Given the description of an element on the screen output the (x, y) to click on. 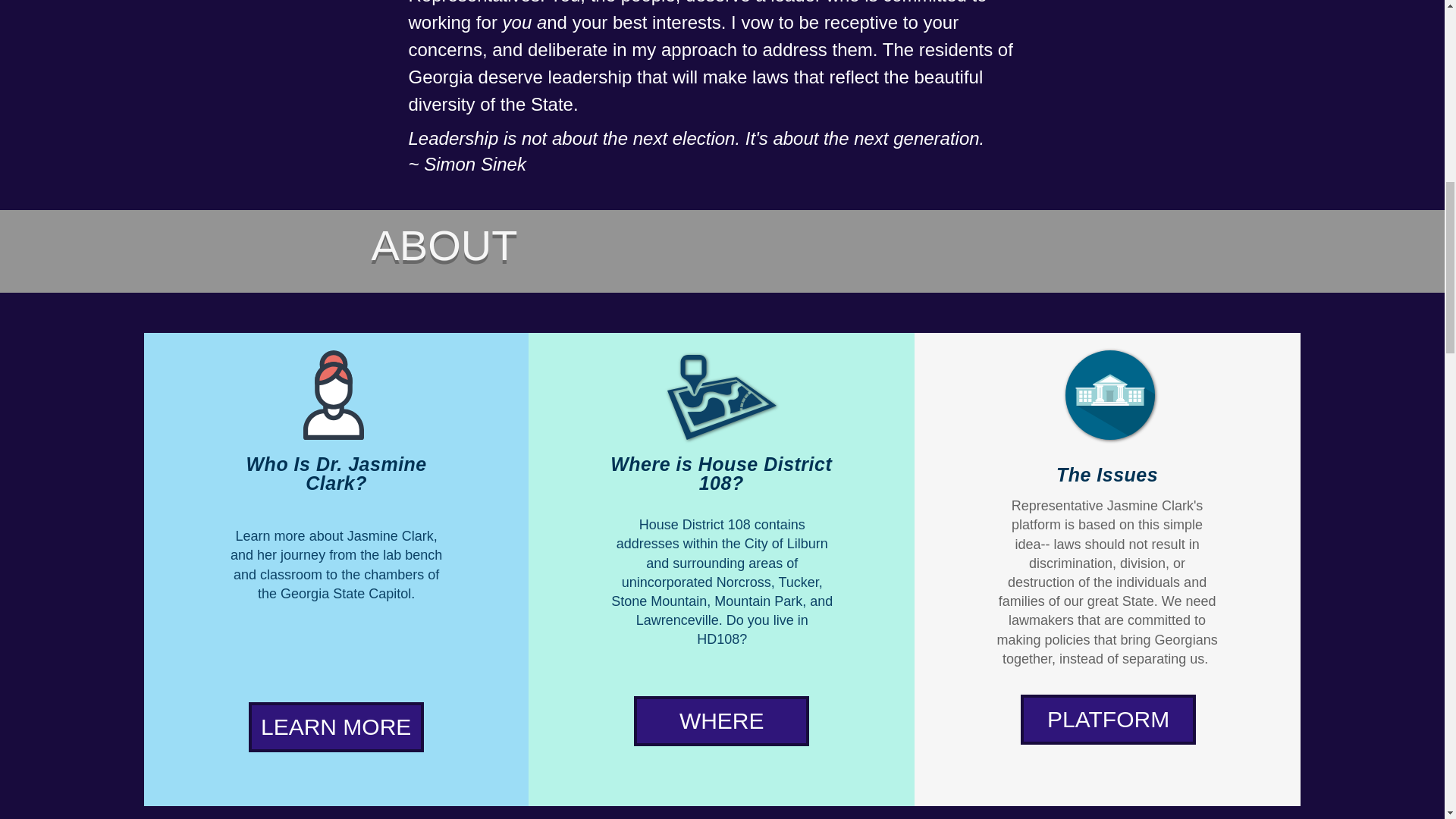
LEARN MORE (335, 726)
PLATFORM (1107, 719)
WHERE (721, 721)
